Given the description of an element on the screen output the (x, y) to click on. 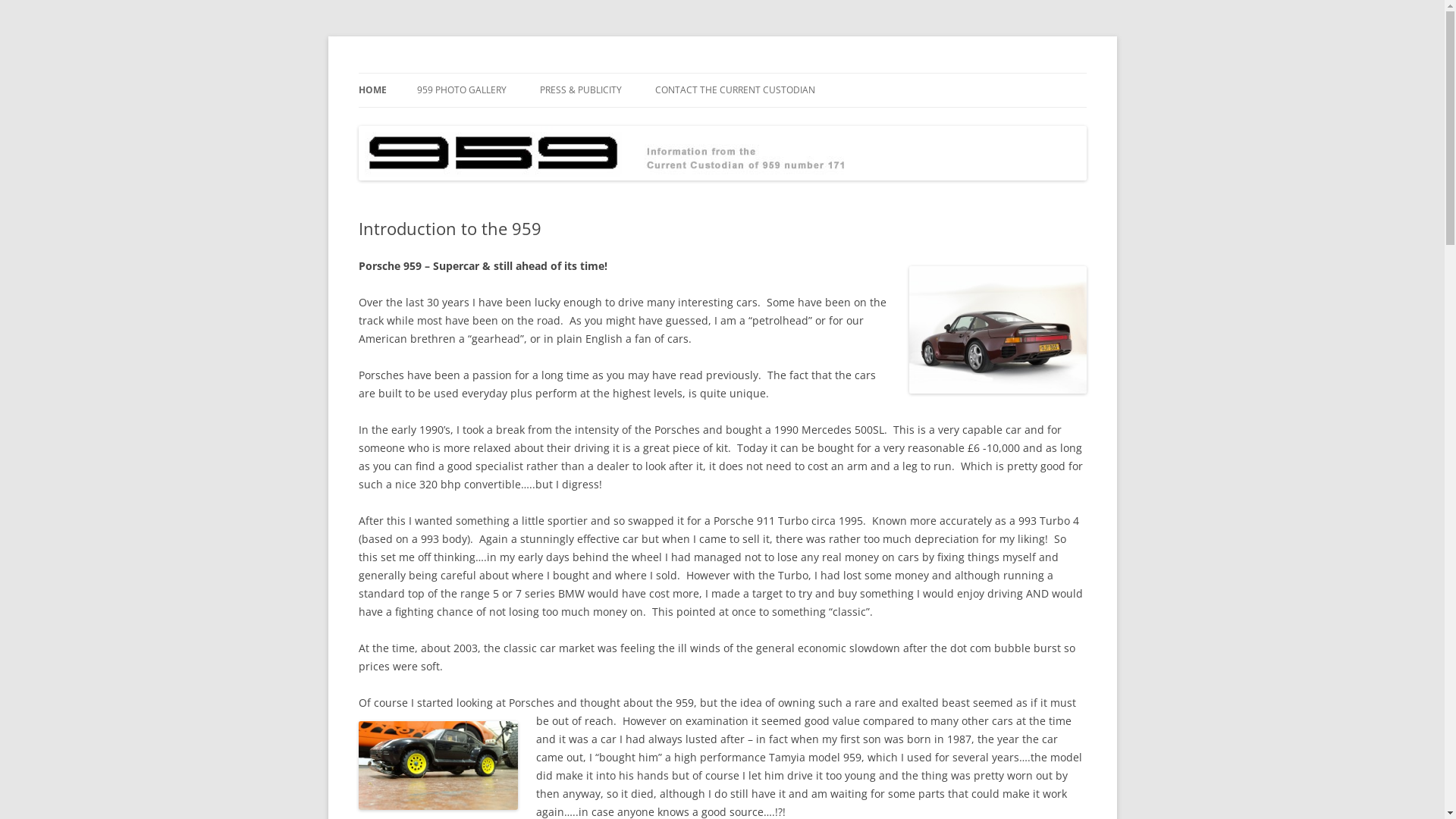
HOME Element type: text (371, 89)
959 PHOTO GALLERY Element type: text (461, 89)
PRESS & PUBLICITY Element type: text (580, 89)
171959.com Element type: text (415, 72)
CONTACT THE CURRENT CUSTODIAN Element type: text (735, 89)
Skip to content Element type: text (721, 72)
